Given the description of an element on the screen output the (x, y) to click on. 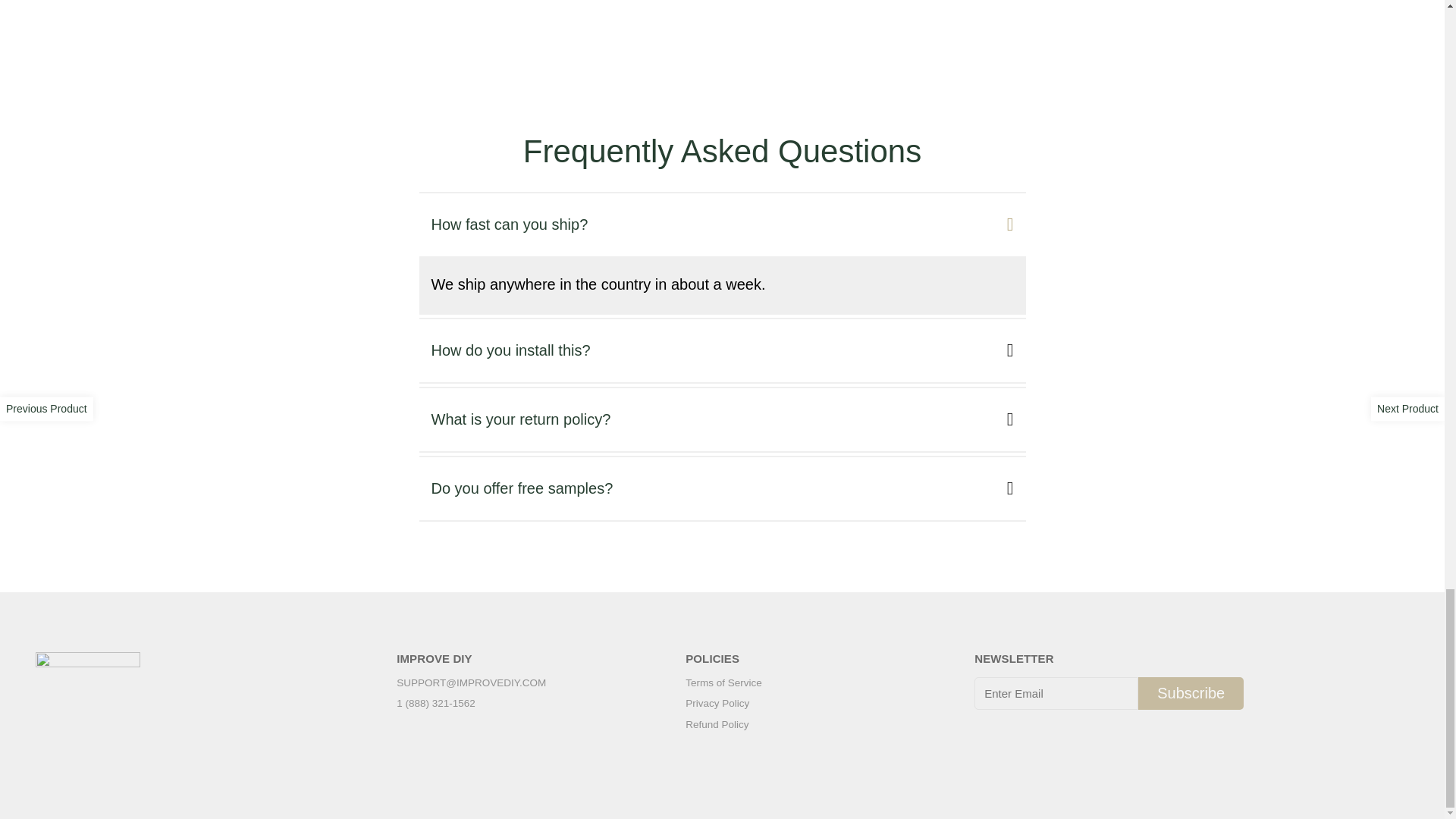
Subscribe (1190, 693)
Terms of Service (723, 683)
Refund Policy (723, 725)
Privacy Policy (723, 703)
